Given the description of an element on the screen output the (x, y) to click on. 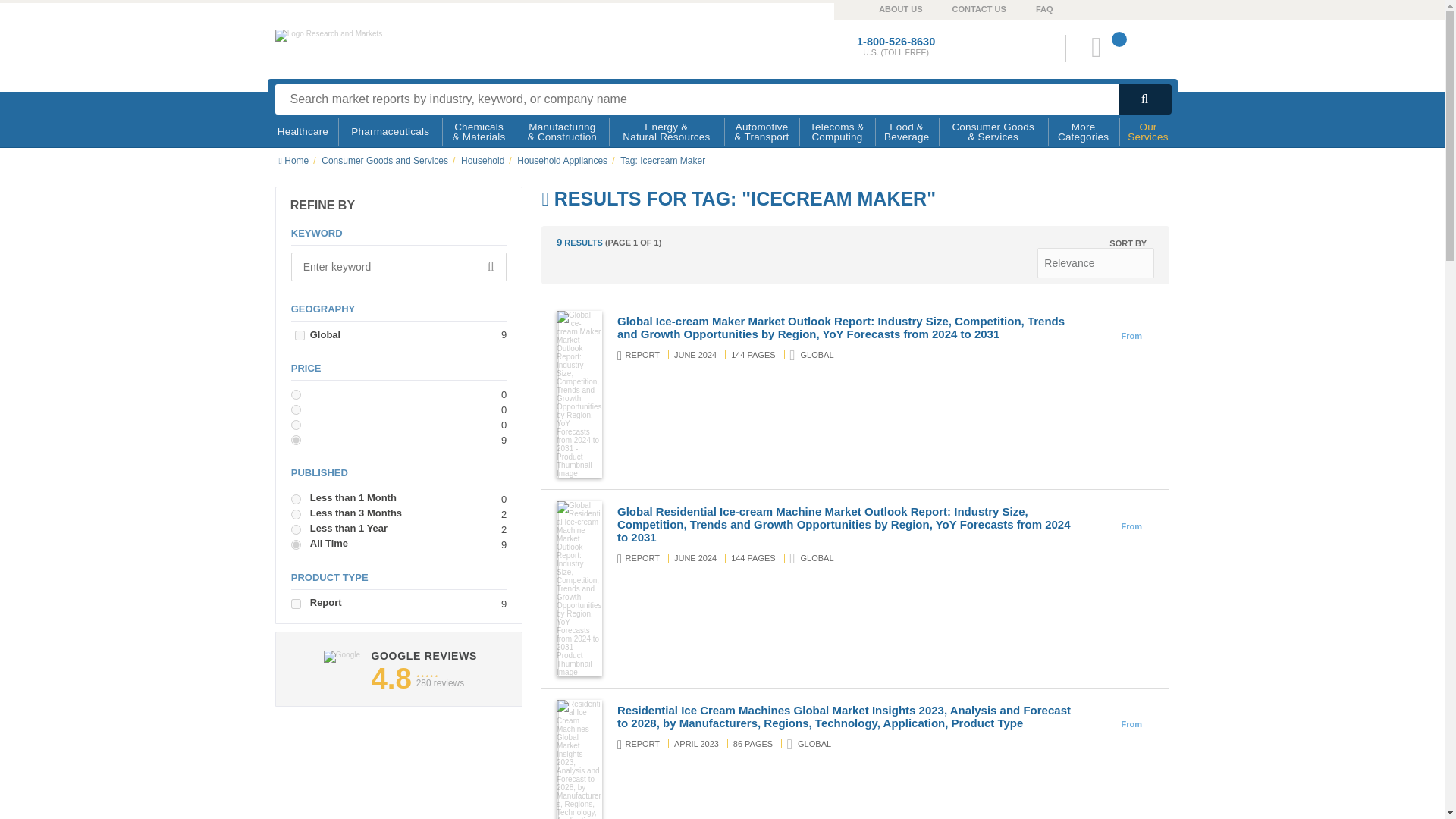
LowRange (296, 394)
FAQ (1029, 8)
594 (299, 335)
From0To30Days (296, 499)
Healthcare (302, 132)
From0To365Days (296, 529)
From0To90Days (296, 514)
MidRange (296, 409)
CONTACT US (964, 8)
AnyPrice (296, 439)
